Given the description of an element on the screen output the (x, y) to click on. 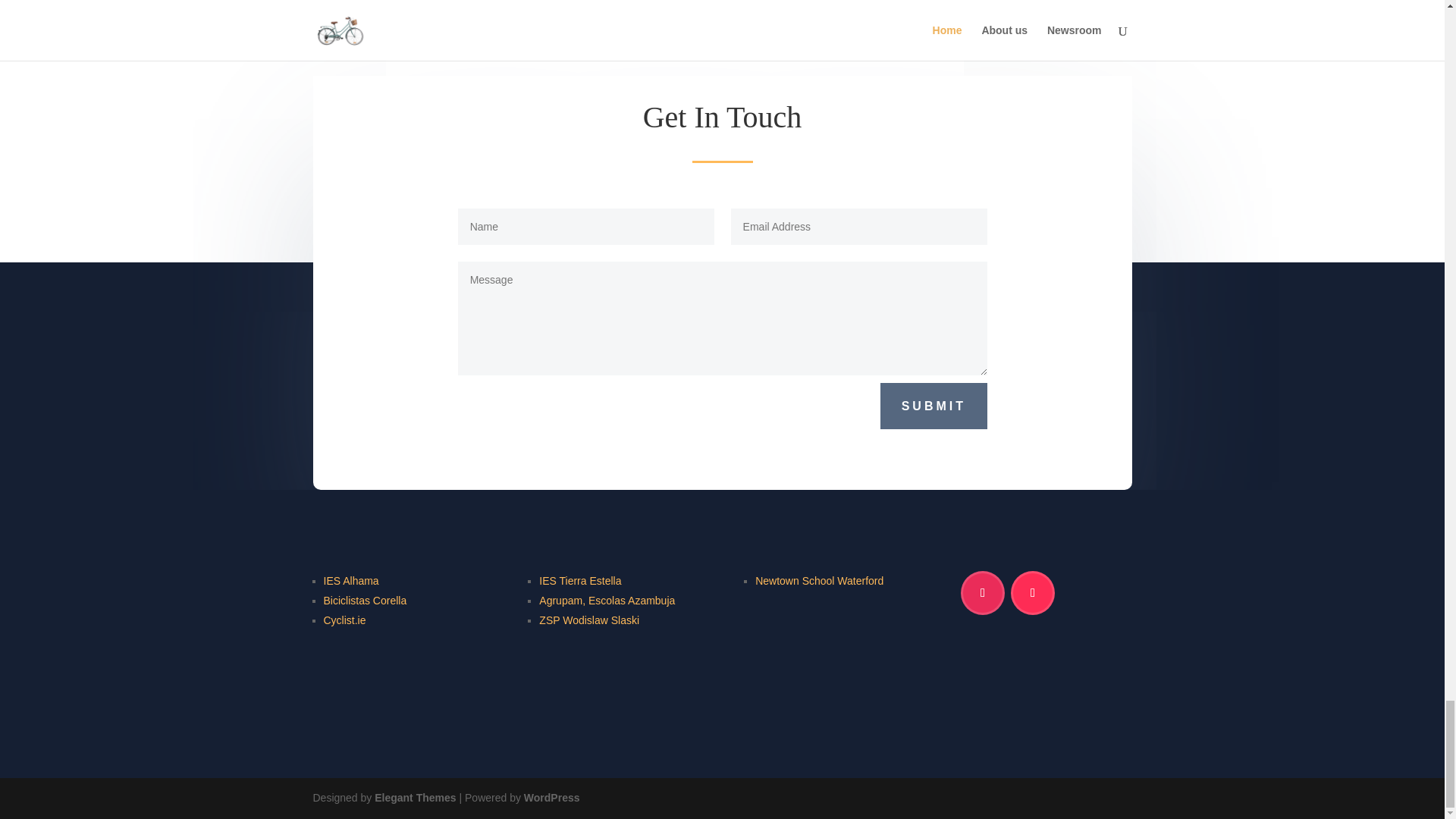
Newtown School Waterford (819, 581)
Agrupam, Escolas Azambuja (606, 601)
Biciclistas Corella (364, 601)
Elegant Themes (414, 797)
IES Tierra Estella (579, 581)
ZSP Wodislaw Slaski (588, 621)
Cyclist.ie (344, 621)
IES Alhama (350, 581)
Follow on Instagram (982, 593)
SUBMIT (933, 406)
